Given the description of an element on the screen output the (x, y) to click on. 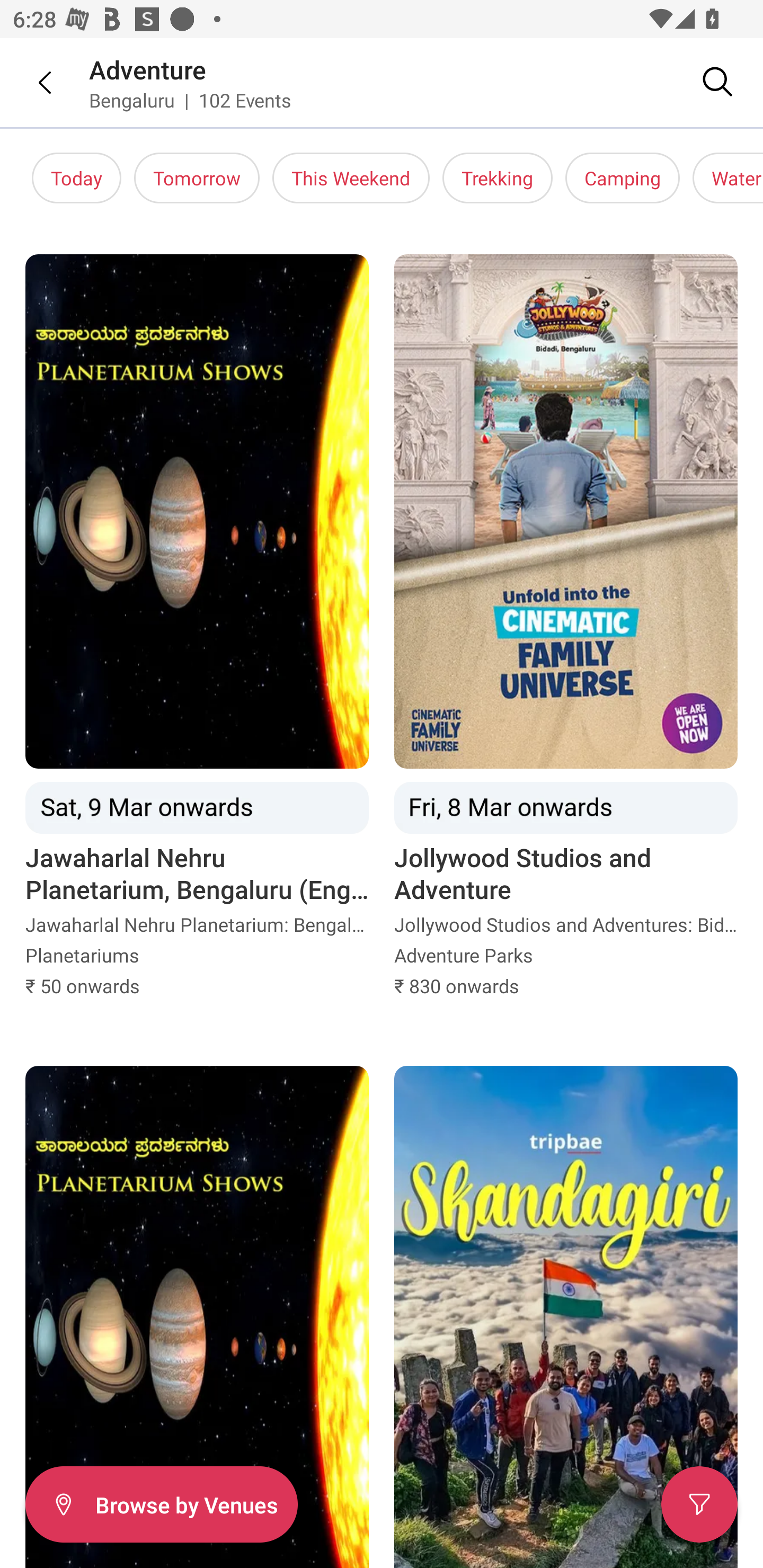
Back (31, 82)
Adventure (147, 68)
Bengaluru  |  102 Events (190, 99)
Today (76, 177)
Tomorrow (196, 177)
This Weekend (350, 177)
Trekking (497, 177)
Camping (622, 177)
Filter Browse by Venues (161, 1504)
Filter (699, 1504)
